Given the description of an element on the screen output the (x, y) to click on. 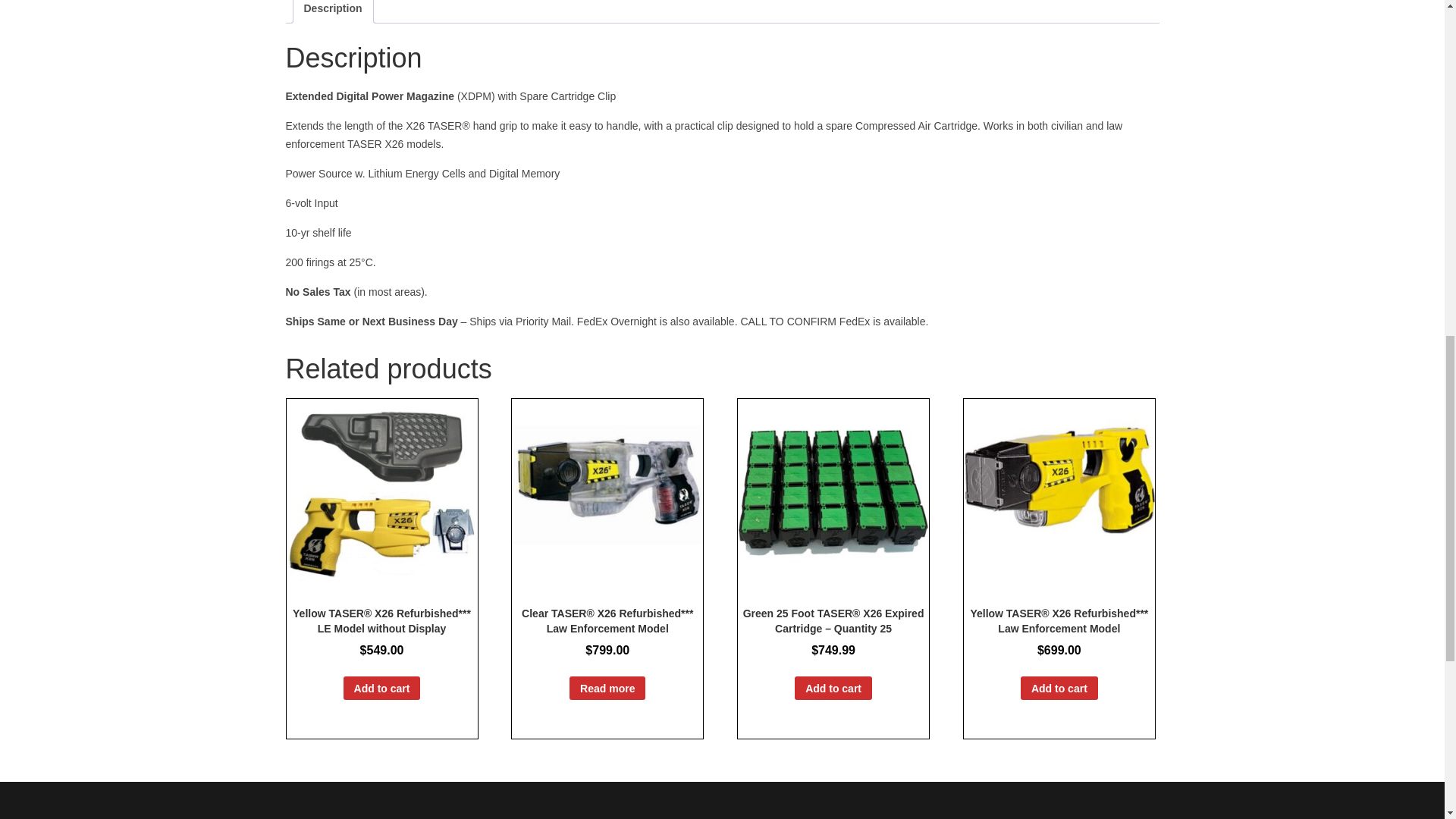
Add to cart (833, 688)
Add to cart (381, 688)
Description (331, 11)
Add to cart (1058, 688)
Read more (607, 688)
